Given the description of an element on the screen output the (x, y) to click on. 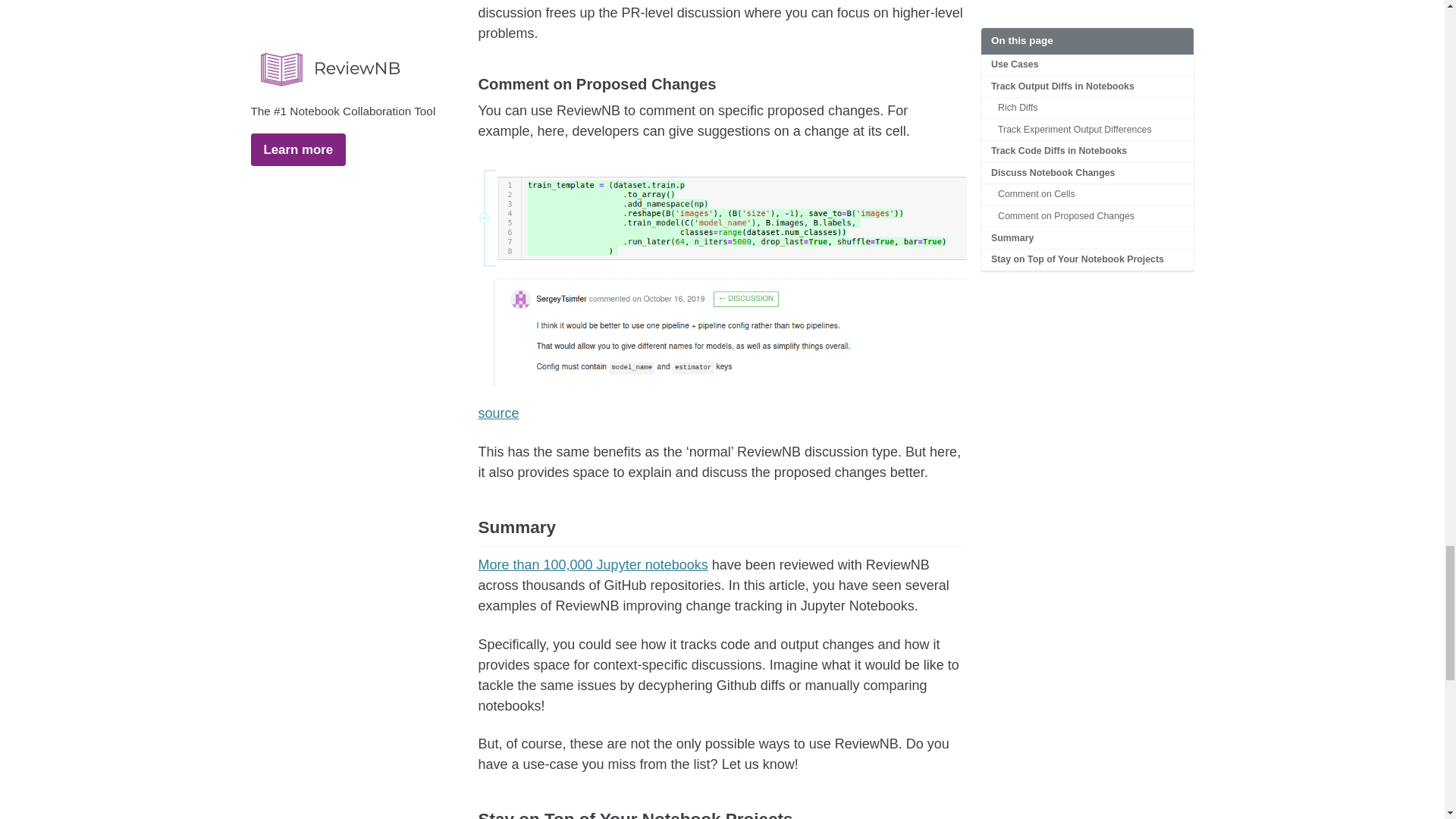
Comment changes in ReviewNB (721, 272)
source (497, 412)
More than 100,000 Jupyter notebooks (592, 564)
